Given the description of an element on the screen output the (x, y) to click on. 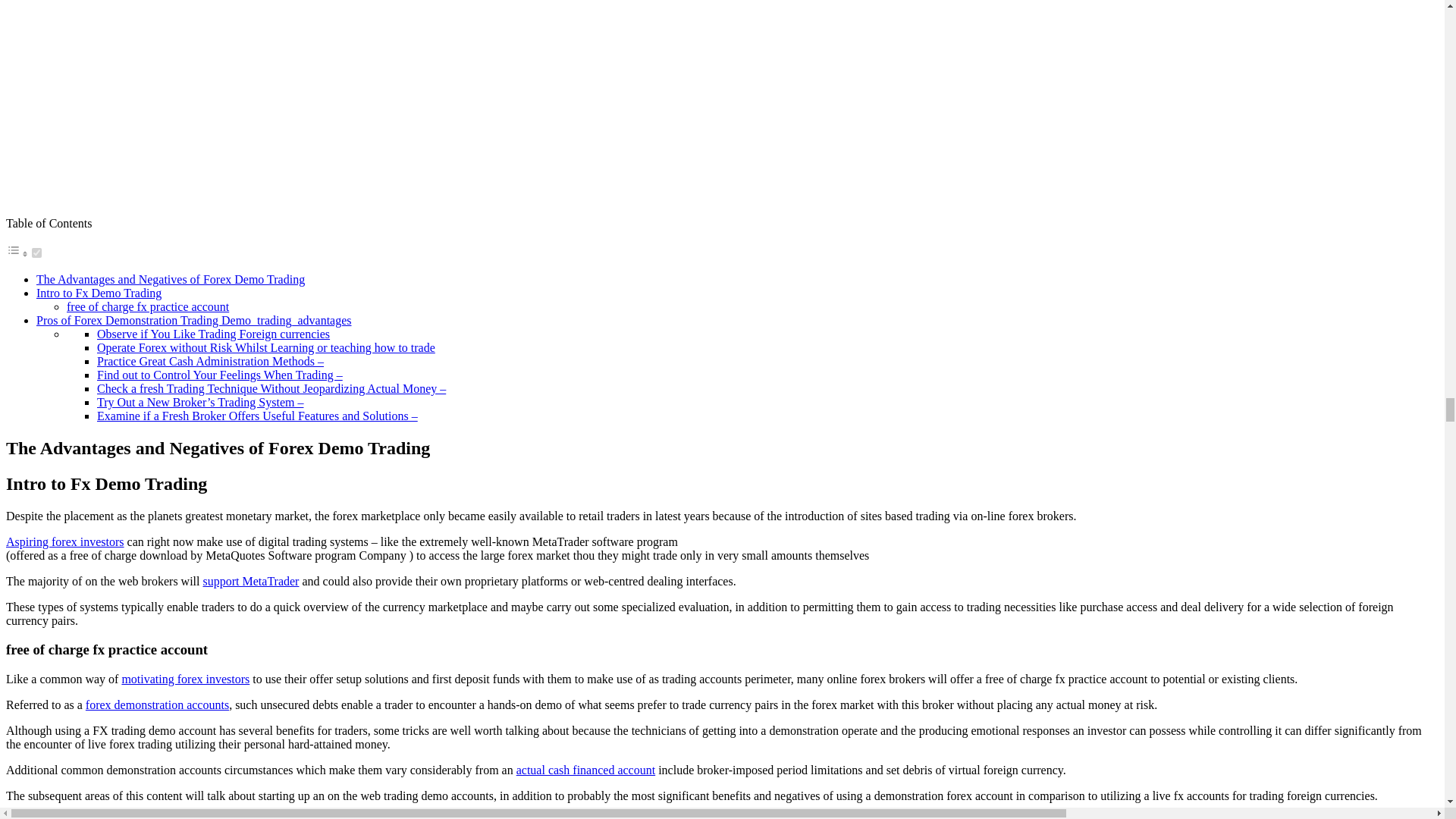
on (37, 252)
